Given the description of an element on the screen output the (x, y) to click on. 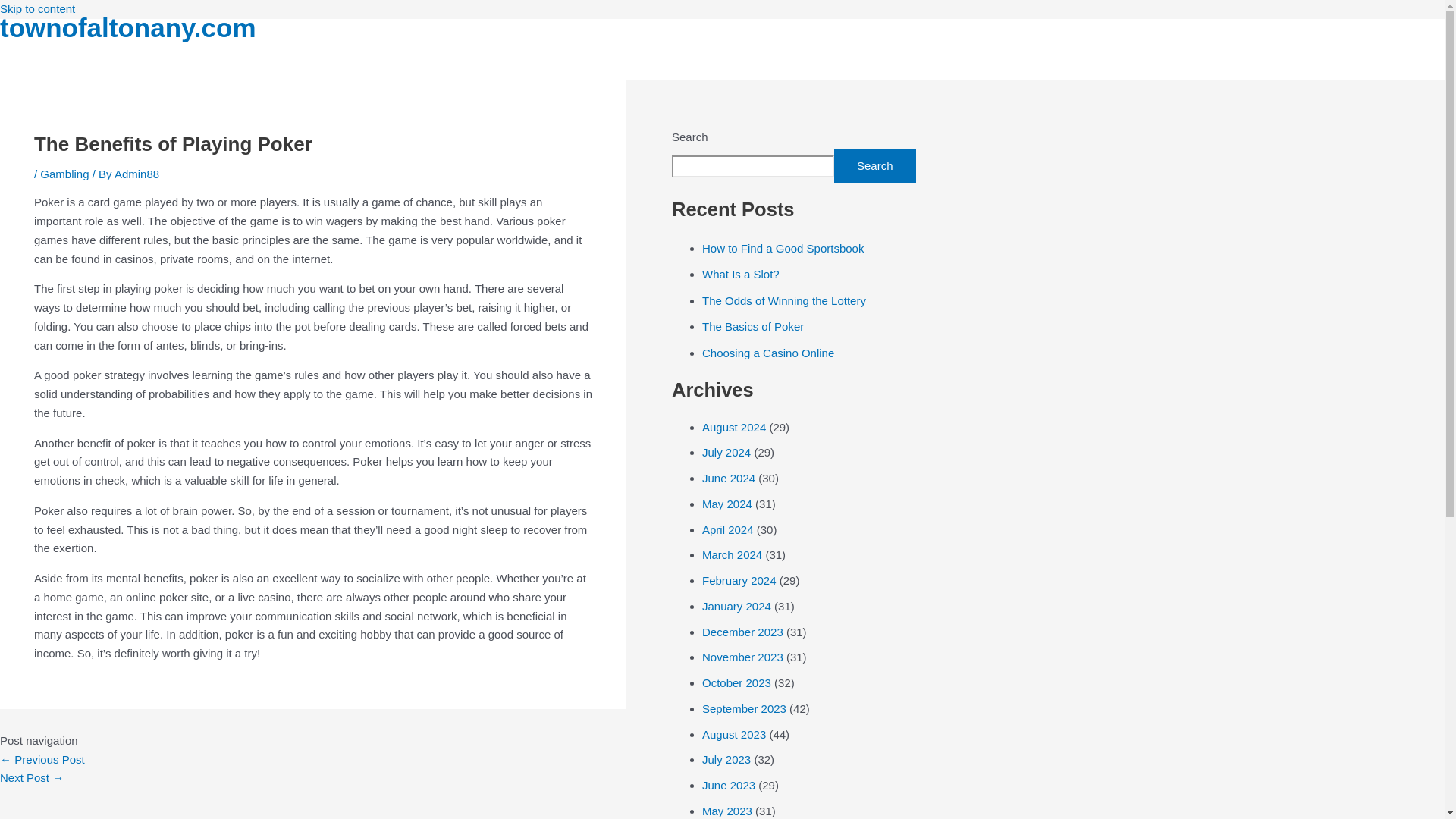
May 2023 (726, 810)
August 2023 (733, 734)
View all posts by Admin88 (136, 173)
The Dangers of Playing the Lottery (32, 777)
June 2023 (728, 784)
Gambling (64, 173)
February 2024 (738, 580)
How to Find a Good Sportsbook (782, 247)
October 2023 (736, 682)
Choosing a Casino Online (767, 352)
